Given the description of an element on the screen output the (x, y) to click on. 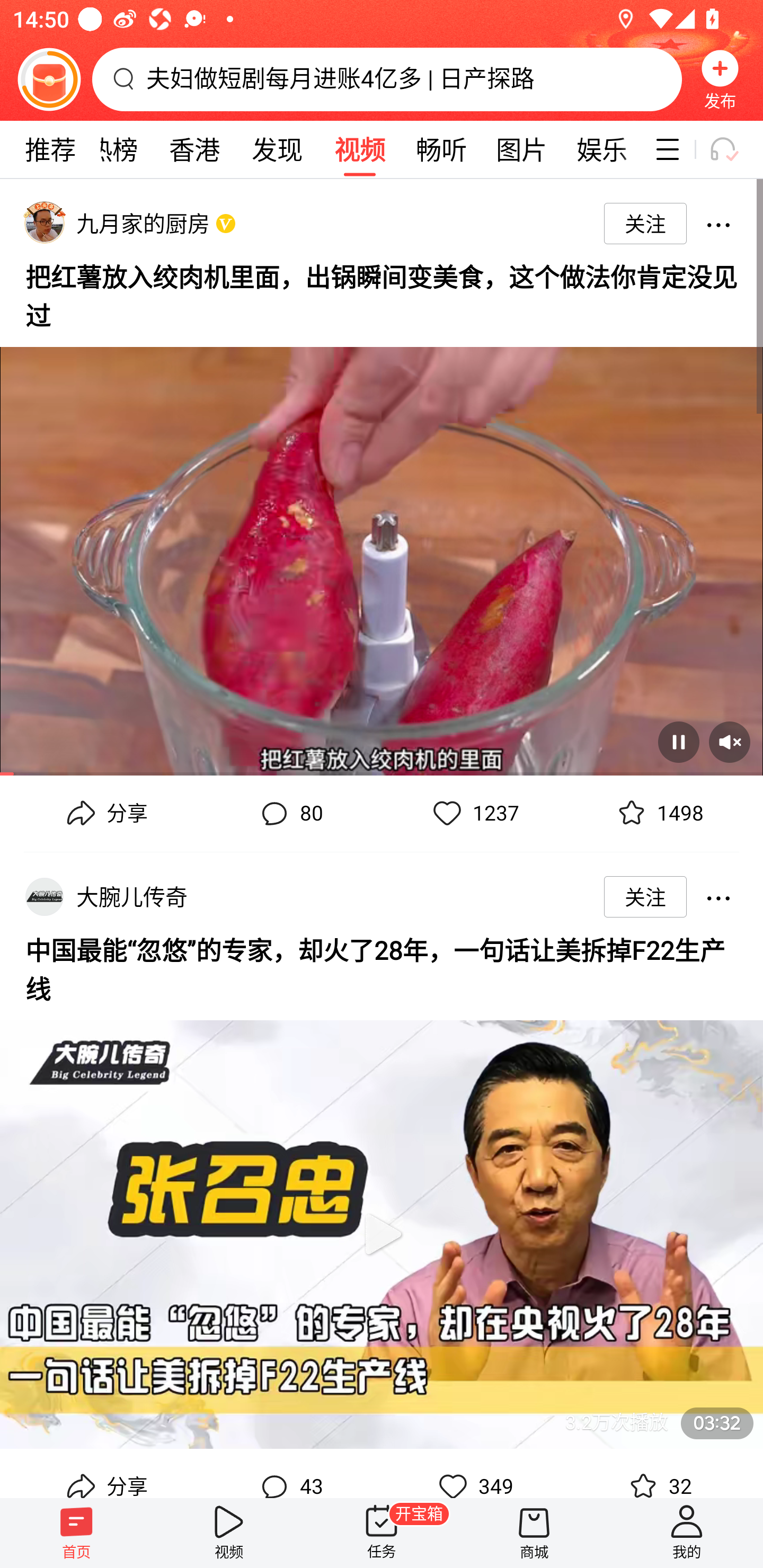
阅读赚金币 (48, 79)
夫妇做短剧每月进账4亿多 | 日产探路 搜索框，夫妇做短剧每月进账4亿多 | 日产探路 (387, 79)
发布 发布，按钮 (720, 78)
推荐 (49, 149)
香港 (194, 149)
发现 (276, 149)
视频 (359, 149)
畅听 (441, 149)
图片 (521, 149)
娱乐 (601, 149)
科技 (643, 149)
听一听开关 (732, 149)
关注 (645, 223)
更多 (718, 223)
九月家的厨房头像 (44, 223)
九月家的厨房 九月家的厨房  已认证 (145, 223)
把红薯放入绞肉机里面，出锅瞬间变美食，这个做法你肯定没见过 (381, 293)
视频播放器，双击唤起播放控制 取消静音 (381, 554)
取消静音 (729, 741)
分享 (104, 813)
评论,80 80 (288, 813)
收藏,1498 1498 (658, 813)
关注 (645, 896)
更多 (718, 896)
大腕儿传奇头像 (44, 896)
大腕儿传奇 董小厨家常菜  已认证 (134, 896)
中国最能“忽悠”的专家，却火了28年，一句话让美拆掉F22生产线 (381, 967)
播放视频 3.2万次播放 (381, 1227)
分享 (104, 1472)
评论,43 43 (288, 1472)
收藏,32 32 (658, 1472)
首页 (76, 1532)
视频 (228, 1532)
任务 开宝箱 (381, 1532)
商城 (533, 1532)
我的 (686, 1532)
